Given the description of an element on the screen output the (x, y) to click on. 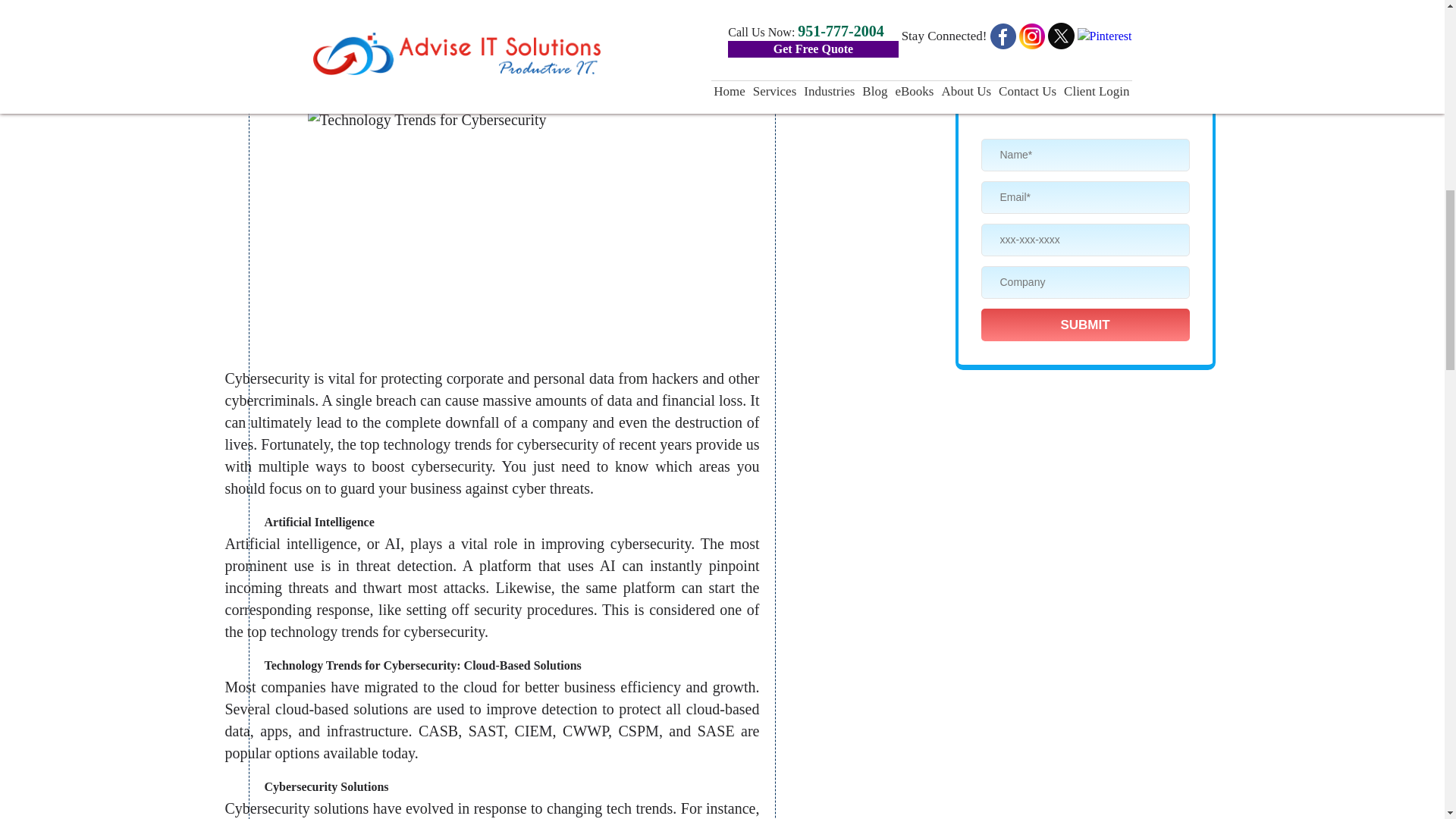
Submit (1085, 324)
Hozi S (424, 74)
8:48 am (349, 74)
View all posts by Hozi S (424, 74)
April 11, 2023 (349, 74)
